Given the description of an element on the screen output the (x, y) to click on. 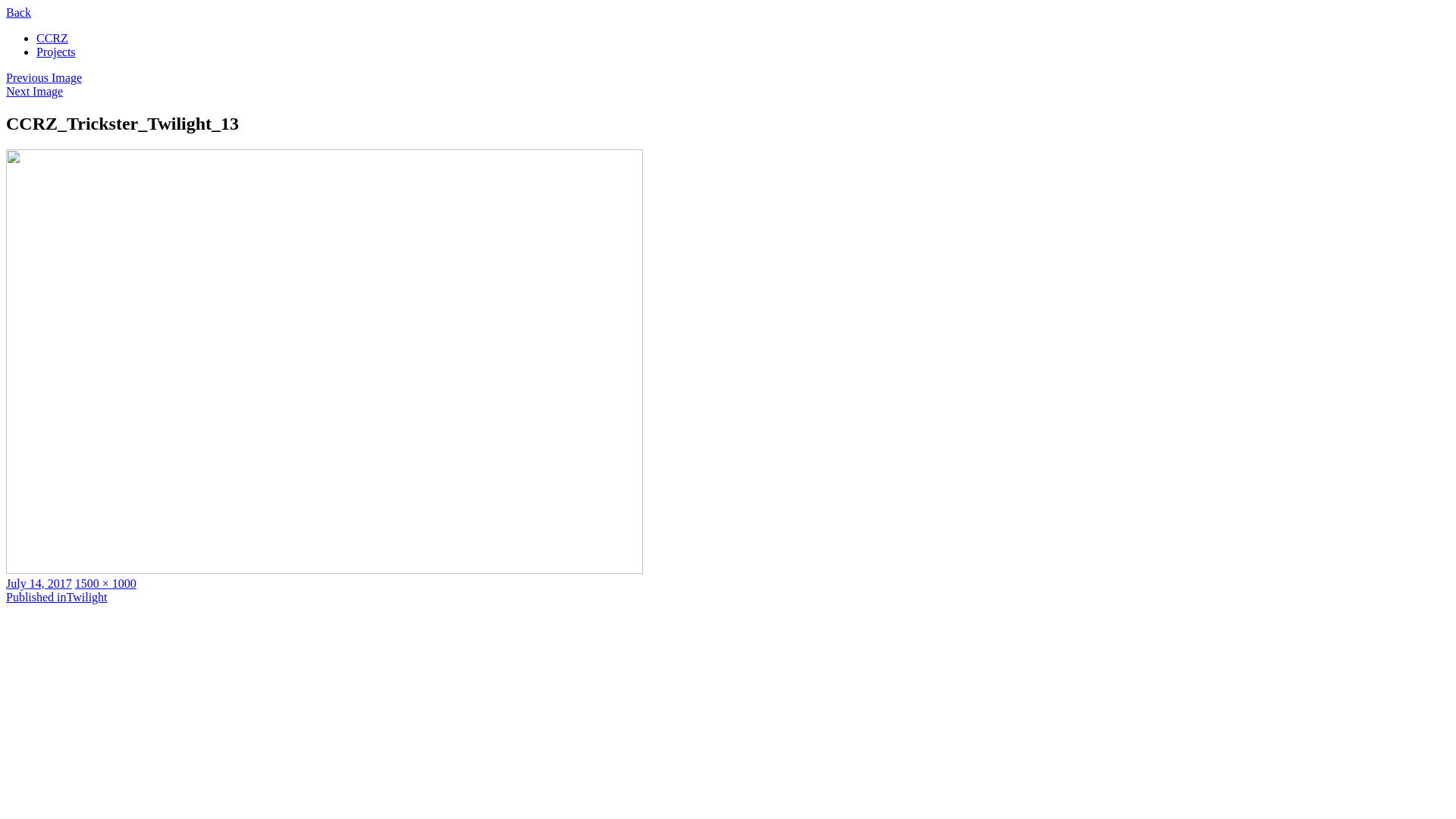
Projects Element type: text (55, 51)
CCRZ Element type: text (52, 37)
Previous Image Element type: text (43, 77)
Back Element type: text (18, 12)
July 14, 2017 Element type: text (39, 583)
Published inTwilight Element type: text (56, 596)
Next Image Element type: text (34, 90)
